Given the description of an element on the screen output the (x, y) to click on. 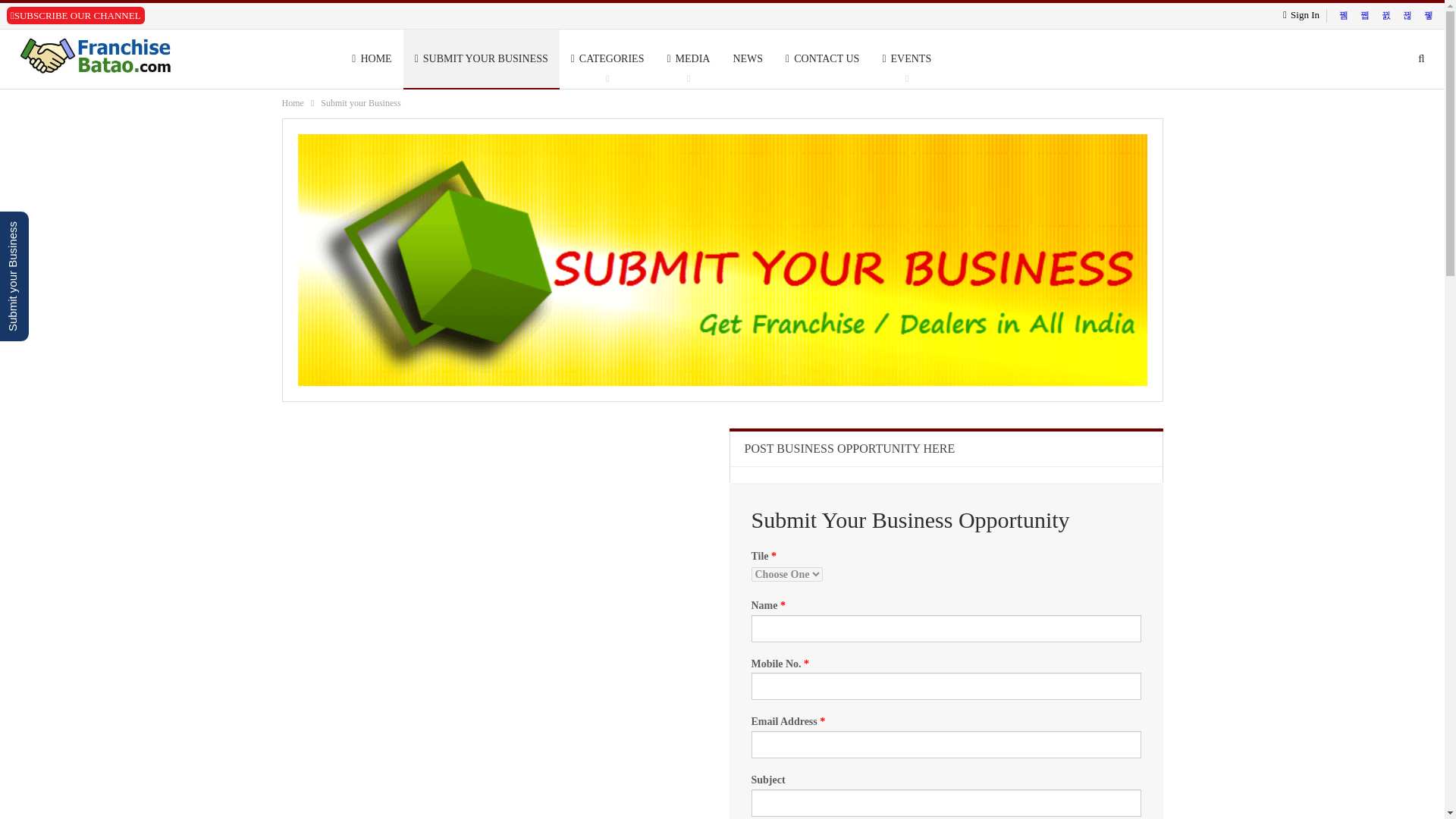
SUBSCRIBE OUR CHANNEL (78, 15)
MEDIA (687, 58)
HOME (371, 58)
NEWS (747, 58)
SUBMIT YOUR BUSINESS (481, 58)
CATEGORIES (607, 58)
Sign In (1303, 14)
EVENTS (906, 58)
CONTACT US (822, 58)
